Given the description of an element on the screen output the (x, y) to click on. 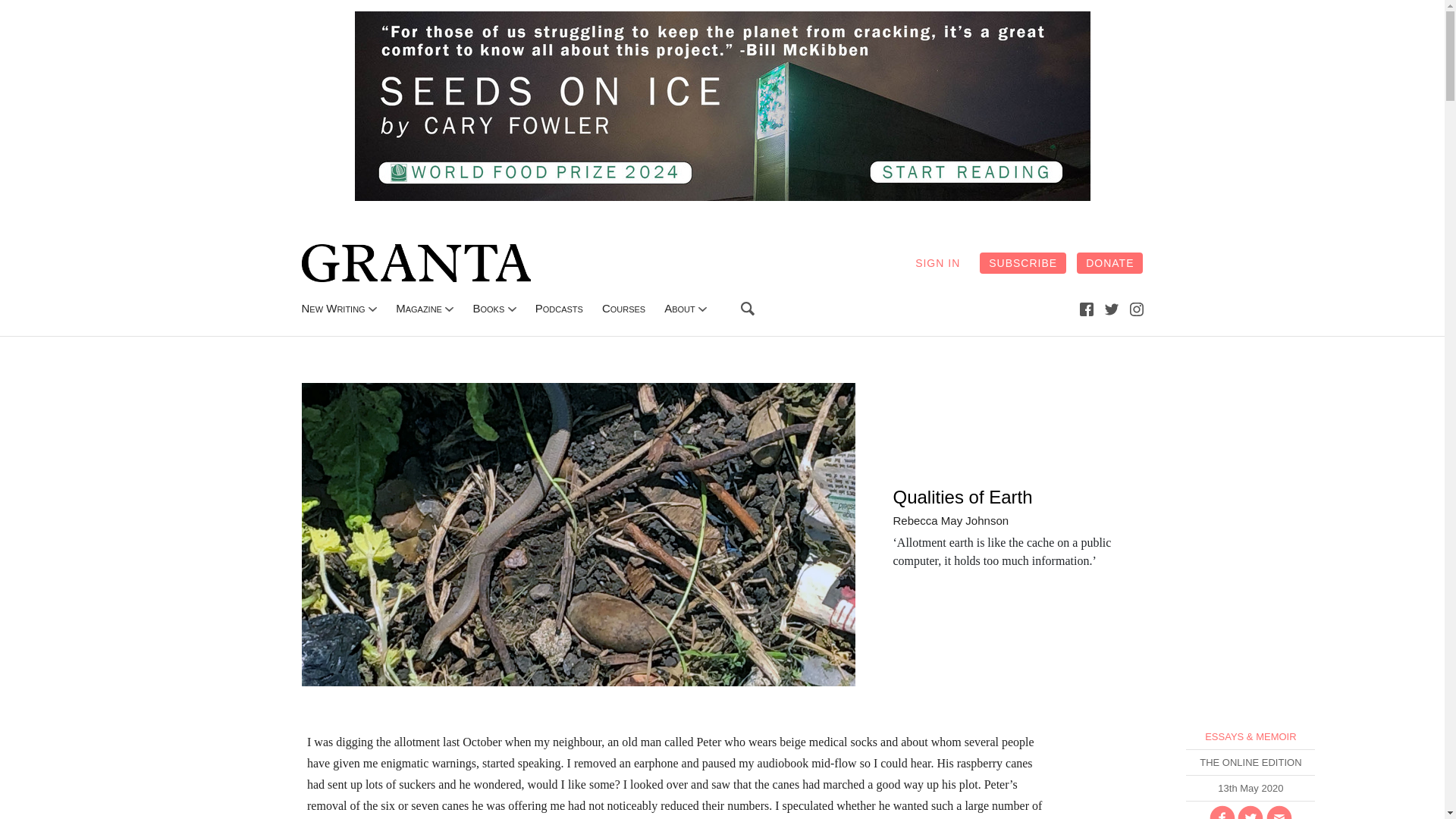
twitter-with-circle Created with Sketch. (1250, 812)
facebook-with-circle Created with Sketch. (1221, 812)
books (487, 308)
facebook Created with Sketch. (1086, 308)
magnifying-glass Created with Sketch. (747, 308)
Magazine (419, 308)
magazine (419, 308)
Podcasts (559, 308)
podcasts (559, 308)
SUBSCRIBE (1022, 262)
SIGN IN (937, 262)
DONATE (1109, 262)
About (679, 308)
videos (623, 308)
twitter Created with Sketch. (1111, 309)
